Given the description of an element on the screen output the (x, y) to click on. 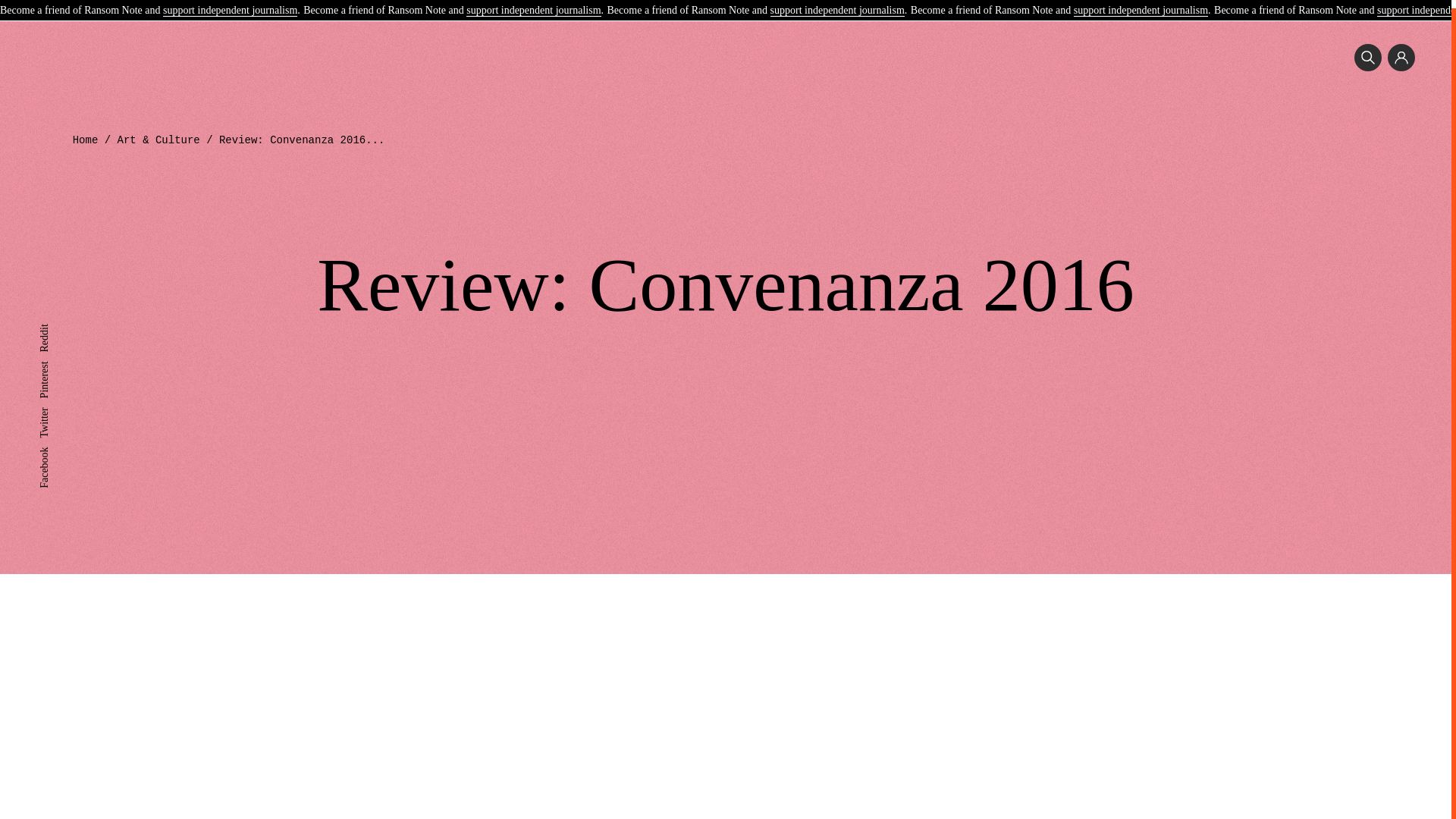
Facebook (59, 444)
Reddit (52, 321)
Twitter (53, 404)
support independent journalism (532, 4)
support independent journalism (230, 4)
support independent journalism (1141, 4)
Pinterest (57, 358)
Home (85, 140)
support independent journalism (837, 4)
